Given the description of an element on the screen output the (x, y) to click on. 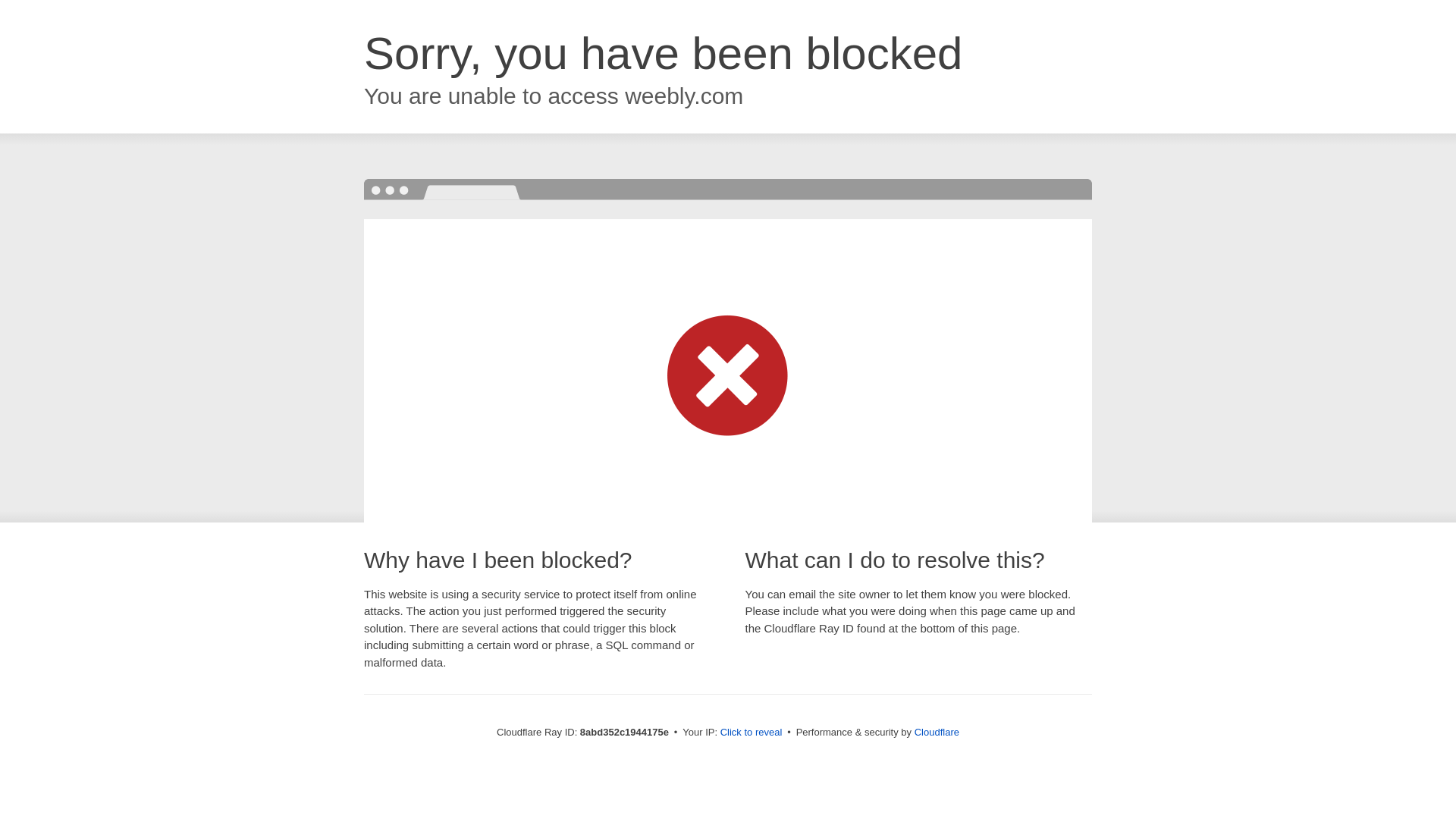
Cloudflare (936, 731)
Click to reveal (751, 732)
